Given the description of an element on the screen output the (x, y) to click on. 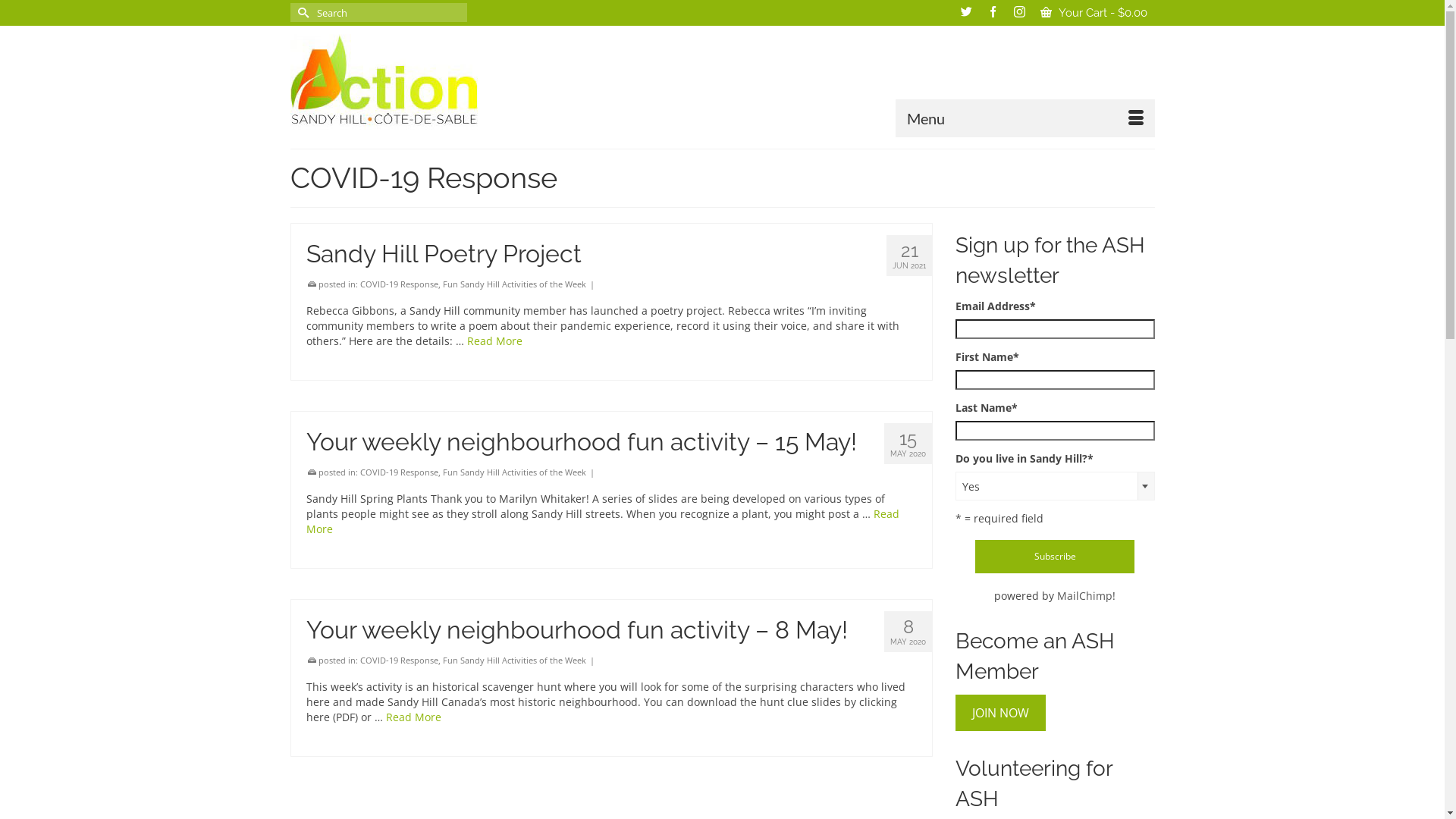
COVID-19 Response Element type: text (398, 471)
Fun Sandy Hill Activities of the Week Element type: text (514, 471)
COVID-19 Response Element type: text (398, 283)
Sandy Hill Poetry Project Element type: text (611, 253)
Menu Element type: text (1024, 118)
Subscribe Element type: text (1054, 556)
Read More Element type: text (412, 716)
JOIN NOW Element type: text (1000, 712)
ASH-ACS Element type: hover (425, 81)
COVID-19 Response Element type: text (398, 659)
Read More Element type: text (602, 521)
Fun Sandy Hill Activities of the Week Element type: text (514, 659)
MailChimp Element type: text (1084, 595)
Your Cart - $0.00 Element type: text (1093, 12)
Fun Sandy Hill Activities of the Week Element type: text (514, 283)
Read More Element type: text (494, 340)
